Given the description of an element on the screen output the (x, y) to click on. 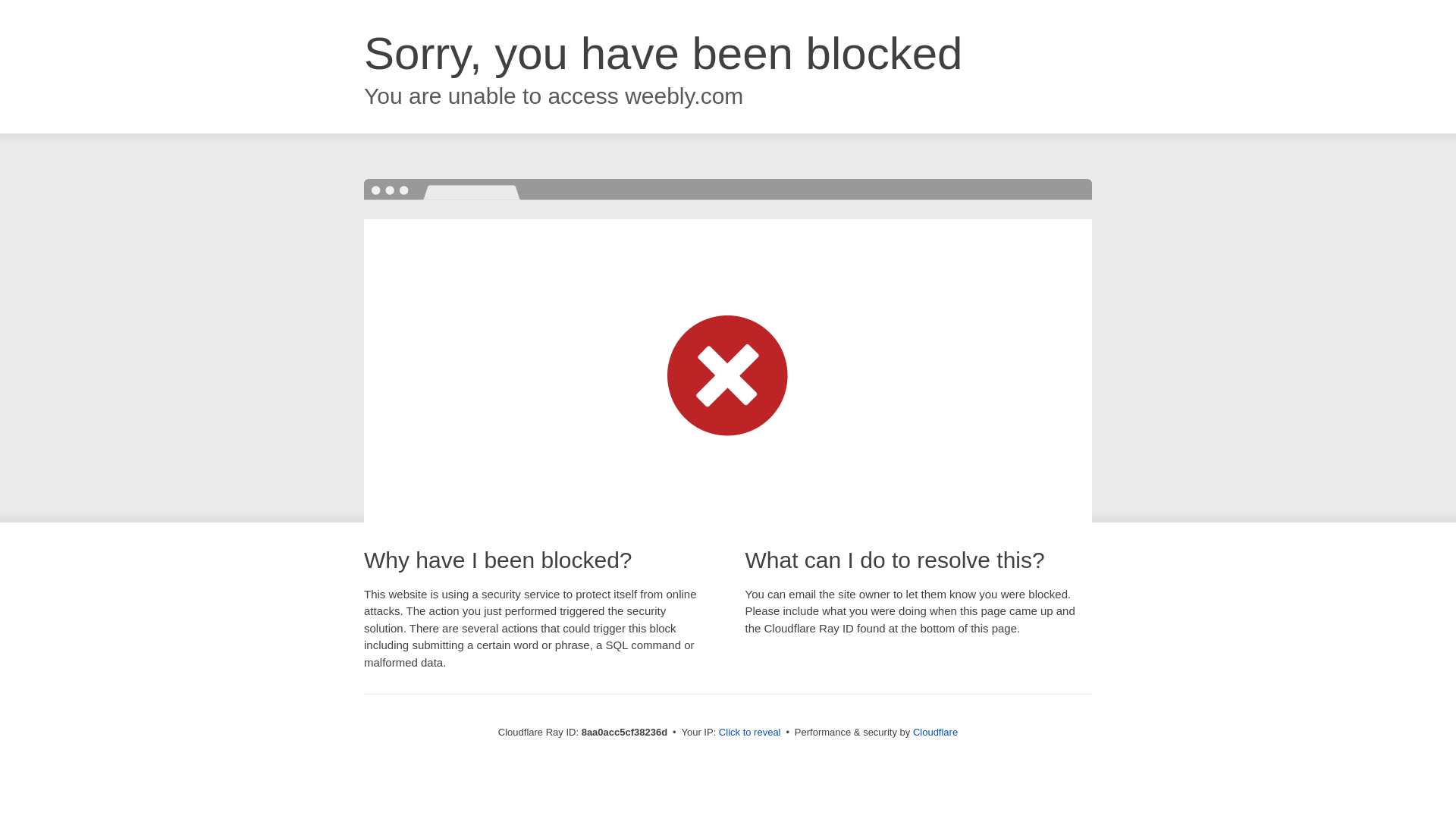
Click to reveal (749, 732)
Cloudflare (935, 731)
